Given the description of an element on the screen output the (x, y) to click on. 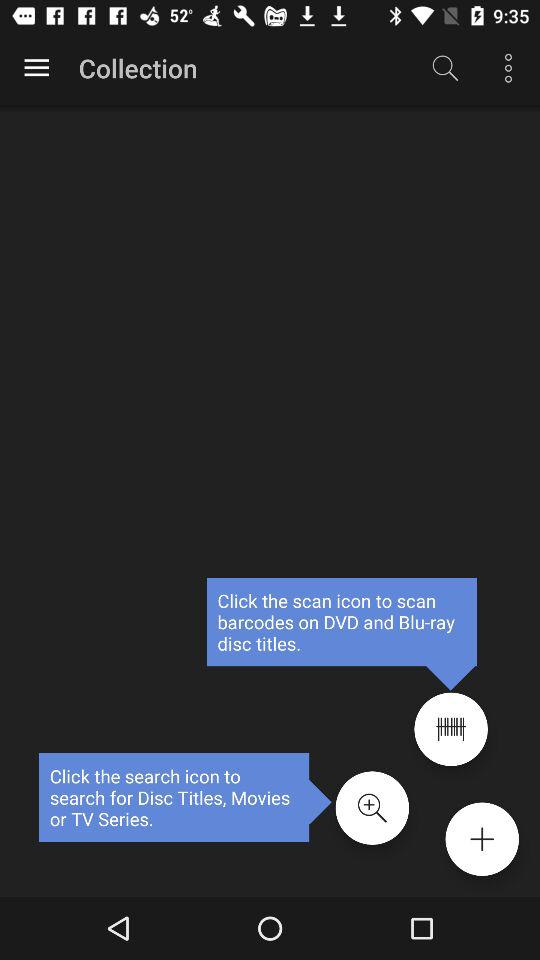
options button (36, 68)
